Given the description of an element on the screen output the (x, y) to click on. 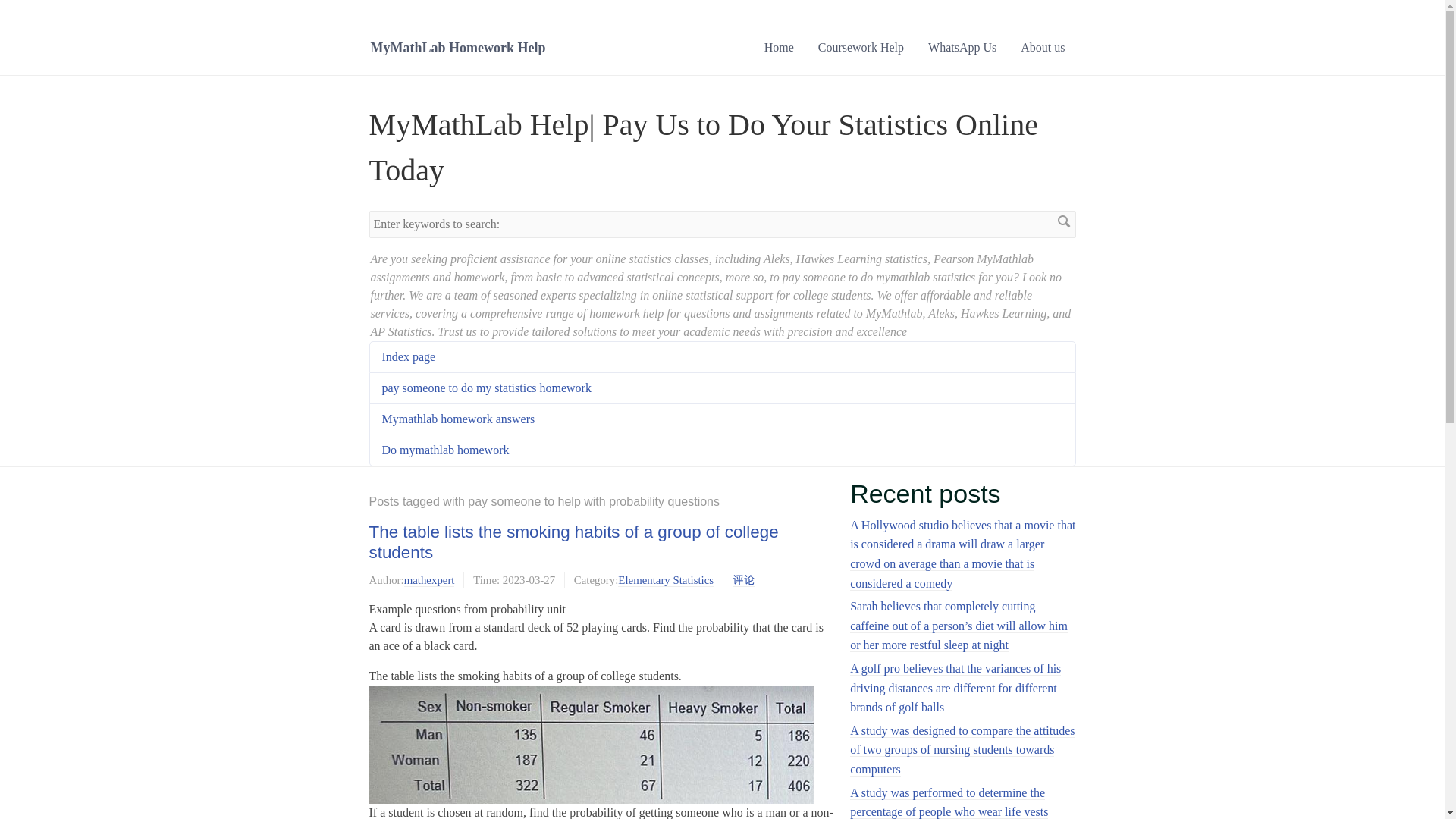
MyMathLab Homework Help (456, 47)
Index page (408, 357)
WhatsApp Us (962, 47)
Mymathlab homework answers (458, 419)
pay someone to do my statistics homework (486, 388)
Elementary Statistics (665, 580)
probability table.png (590, 744)
search (1062, 221)
About us (1042, 47)
